Given the description of an element on the screen output the (x, y) to click on. 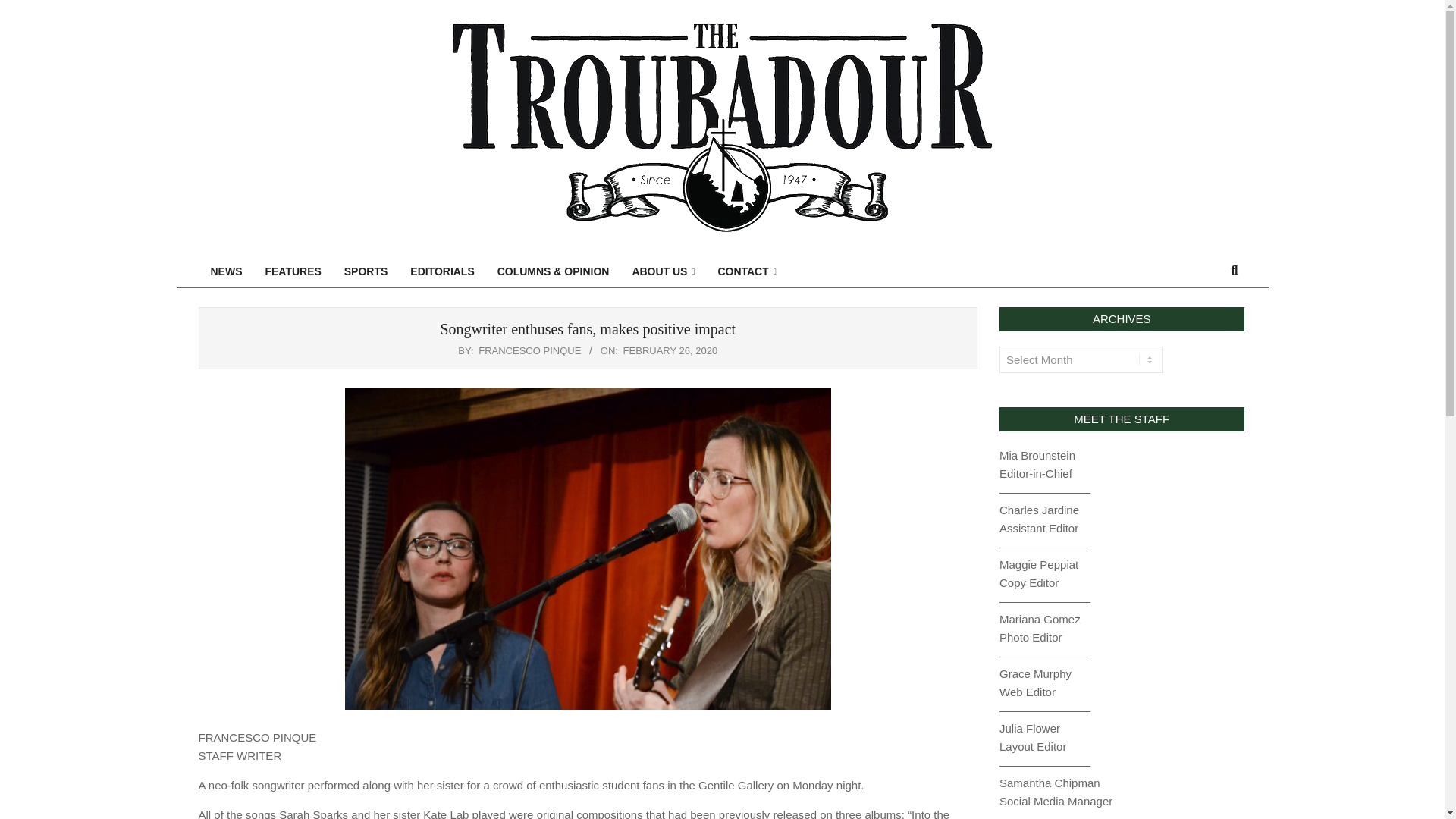
CONTACT (746, 271)
Wednesday, February 26, 2020, 1:39 pm (670, 350)
Search (21, 8)
EDITORIALS (441, 271)
Posts by Francesco Pinque (529, 350)
NEWS (225, 271)
FEATURES (292, 271)
FRANCESCO PINQUE (529, 350)
SPORTS (365, 271)
ABOUT US (663, 271)
